Given the description of an element on the screen output the (x, y) to click on. 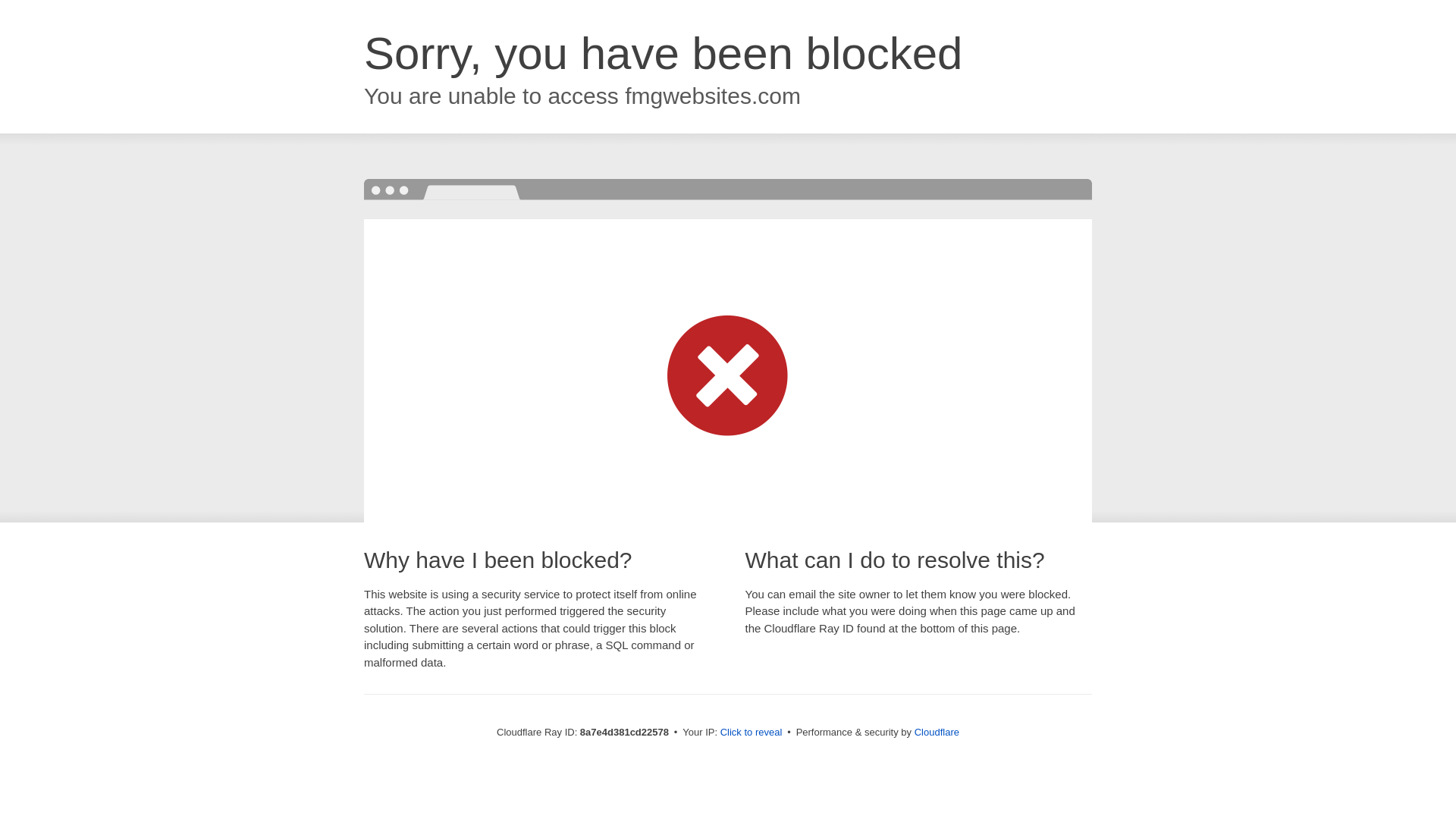
Click to reveal (751, 732)
Cloudflare (936, 731)
